Given the description of an element on the screen output the (x, y) to click on. 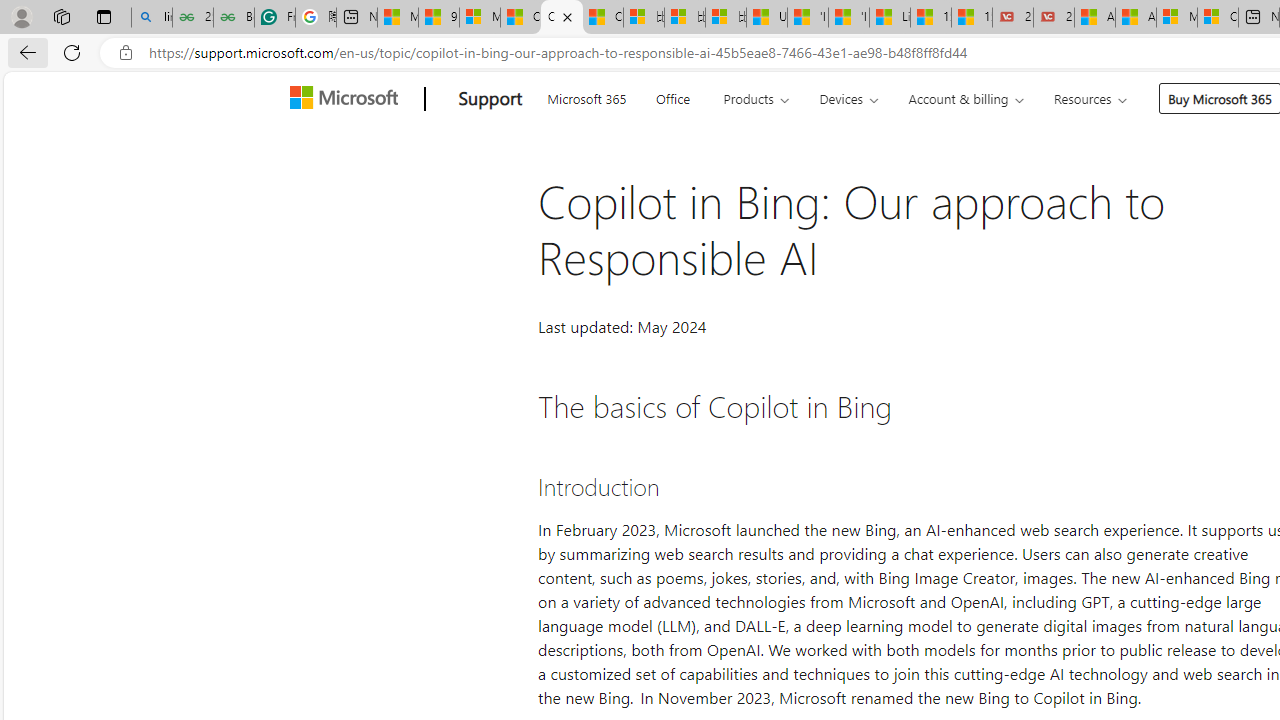
USA TODAY - MSN (767, 17)
21 Movies That Outdid the Books They Were Based On (1053, 17)
Lifestyle - MSN (890, 17)
Support (490, 99)
Cloud Computing Services | Microsoft Azure (1217, 17)
